Given the description of an element on the screen output the (x, y) to click on. 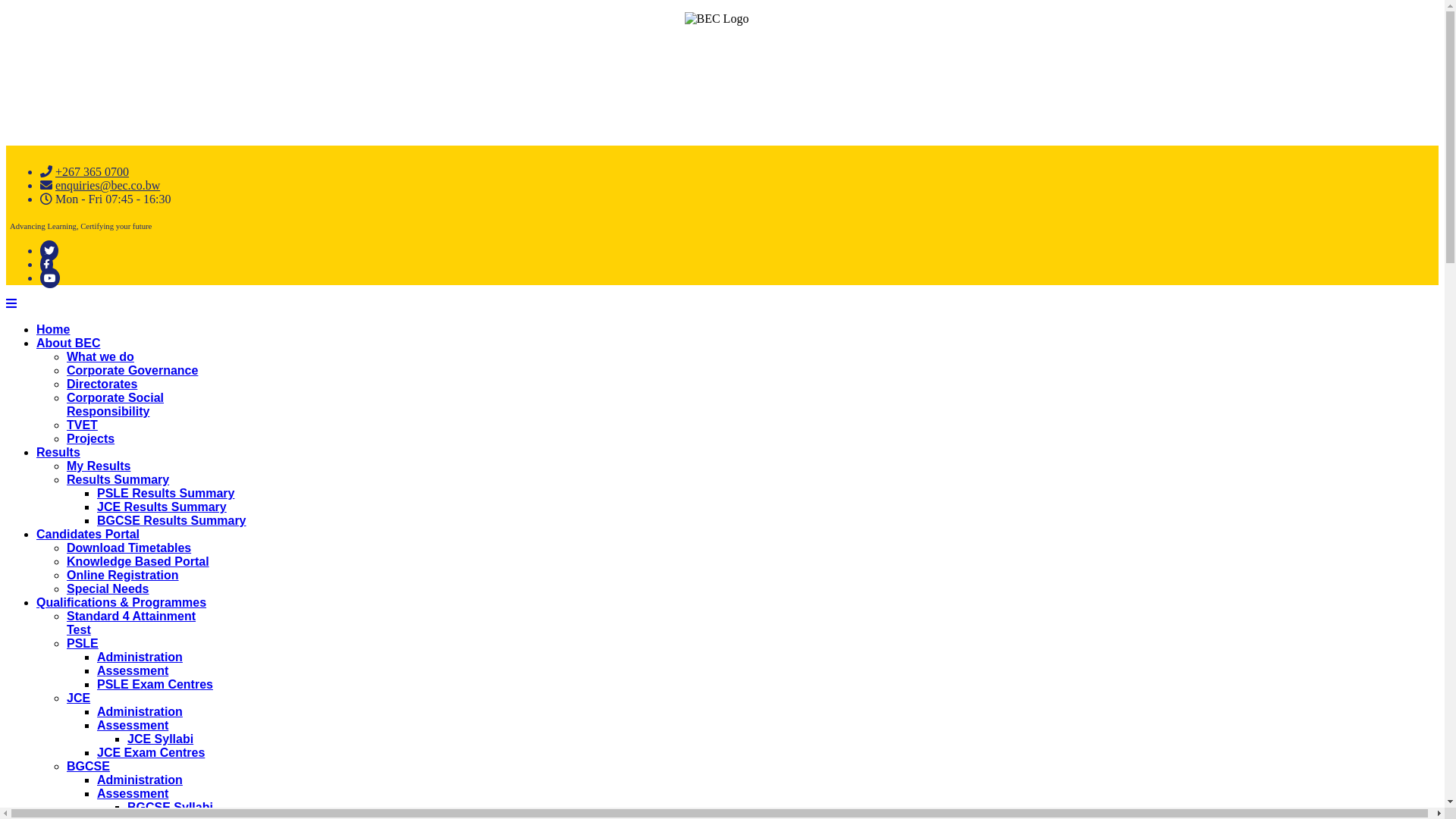
Projects Element type: text (90, 438)
BGCSE Element type: text (87, 765)
About BEC Element type: text (68, 342)
Results Element type: text (58, 451)
Administration Element type: text (139, 779)
Download Timetables Element type: text (128, 547)
PSLE Results Summary Element type: text (165, 492)
TVET Element type: text (81, 424)
BGCSE Results Summary Element type: text (171, 520)
Online Registration Element type: text (122, 574)
Assessment Element type: text (132, 793)
What we do Element type: text (100, 356)
Navigation Element type: hover (11, 303)
PSLE Element type: text (82, 643)
Standard 4 Attainment Test Element type: text (130, 622)
My Results Element type: text (98, 465)
Candidates Portal Element type: text (87, 533)
Corporate Governance Element type: text (131, 370)
Qualifications & Programmes Element type: text (121, 602)
Administration Element type: text (139, 711)
JCE Results Summary Element type: text (161, 506)
BGCSE Syllabi Element type: text (170, 806)
JCE Element type: text (78, 697)
+267 365 0700 Element type: text (91, 171)
Knowledge Based Portal Element type: text (137, 561)
Special Needs Element type: text (107, 588)
JCE Syllabi Element type: text (160, 738)
Home Element type: text (52, 329)
PSLE Exam Centres Element type: text (155, 683)
Administration Element type: text (139, 656)
Results Summary Element type: text (117, 479)
Assessment Element type: text (132, 670)
Directorates Element type: text (101, 383)
JCE Exam Centres Element type: text (150, 752)
enquiries@bec.co.bw Element type: text (107, 184)
Assessment Element type: text (132, 724)
Corporate Social Responsibility Element type: text (114, 404)
